Given the description of an element on the screen output the (x, y) to click on. 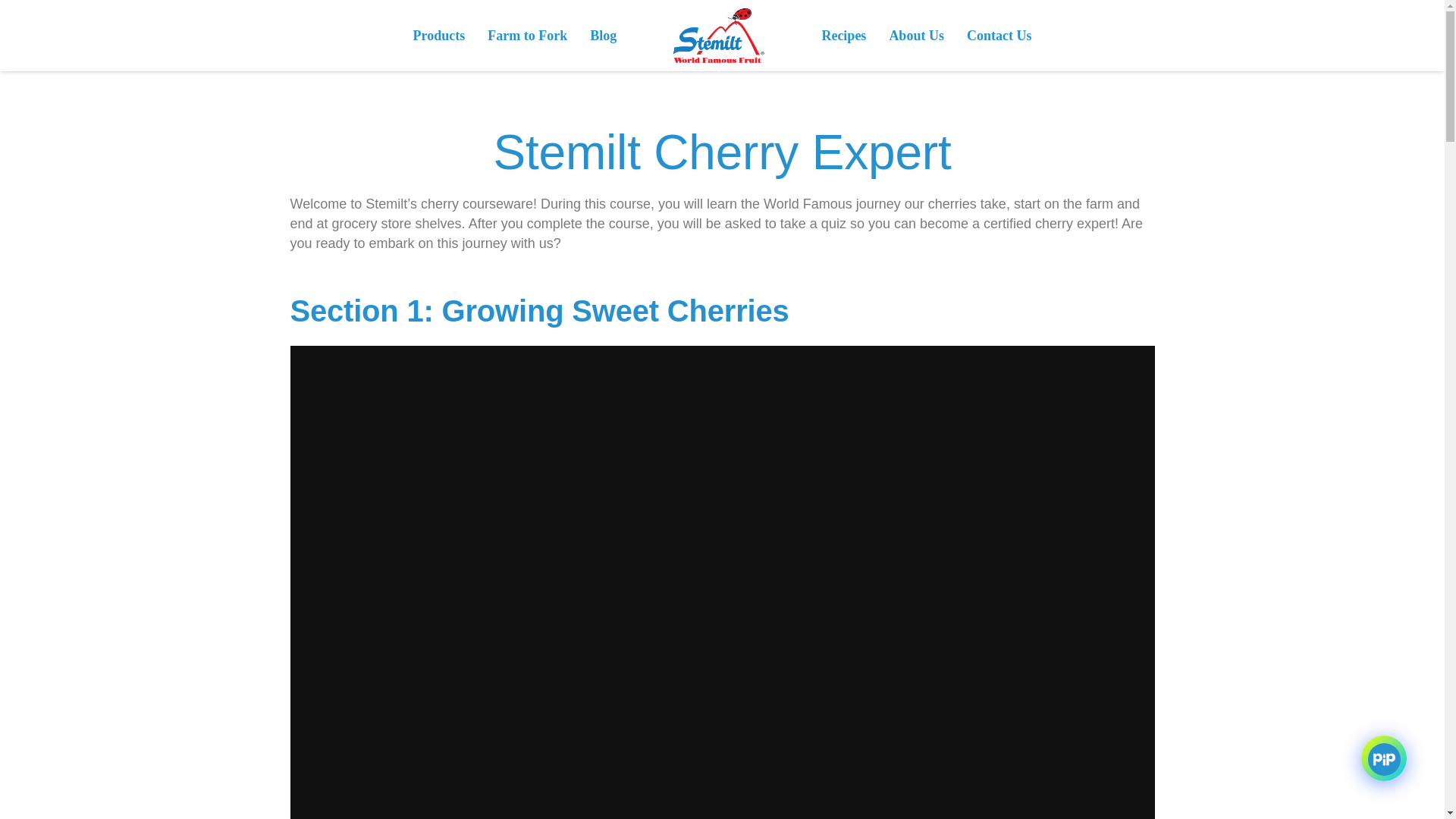
Recipes (843, 35)
Products (439, 35)
Farm to Fork (527, 35)
Chat with us! (1383, 758)
